Given the description of an element on the screen output the (x, y) to click on. 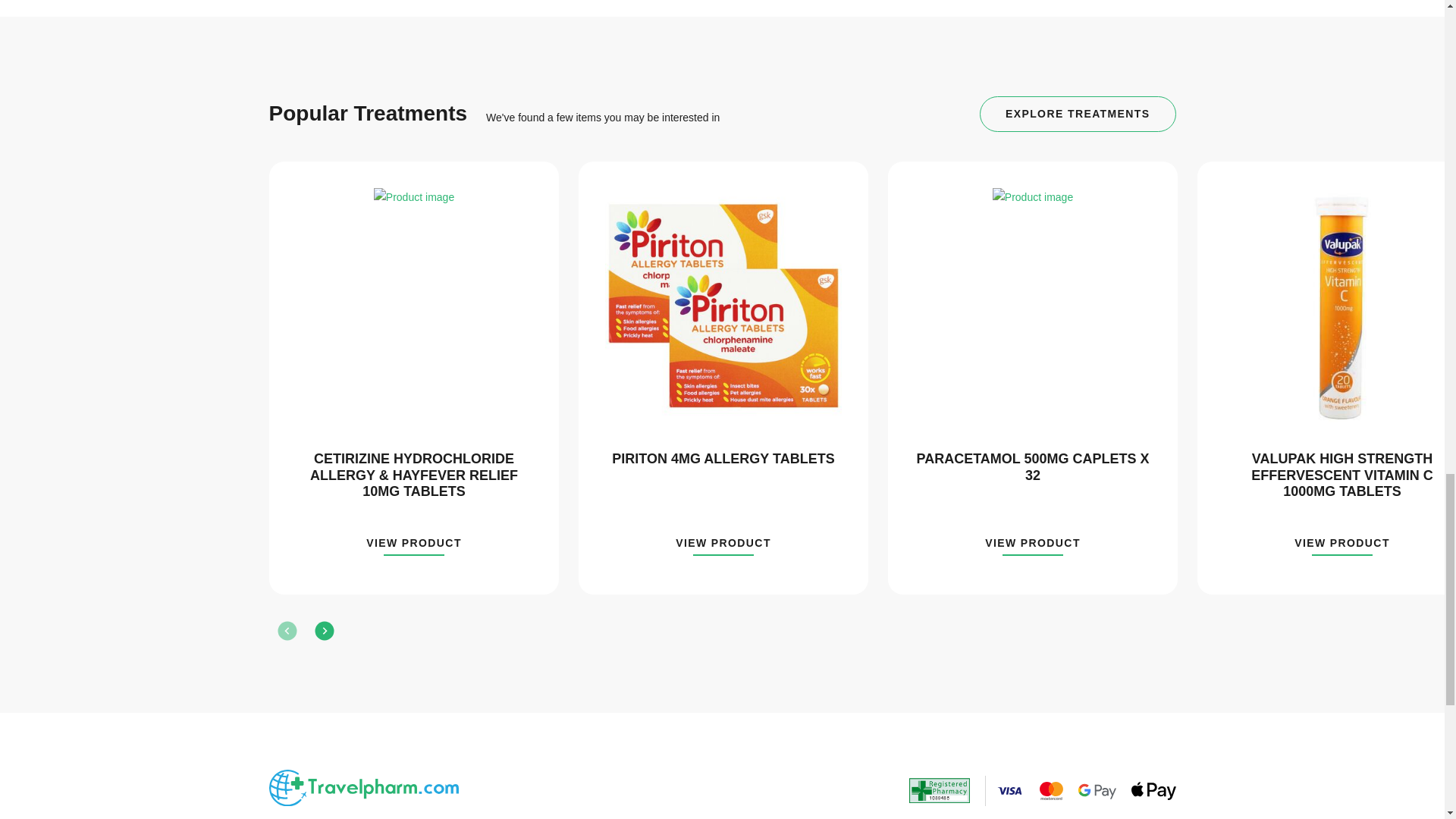
General Pharmaceutical Council (938, 790)
View product (723, 546)
View product (1032, 546)
View product (1342, 546)
logo (362, 787)
View product (414, 546)
